Given the description of an element on the screen output the (x, y) to click on. 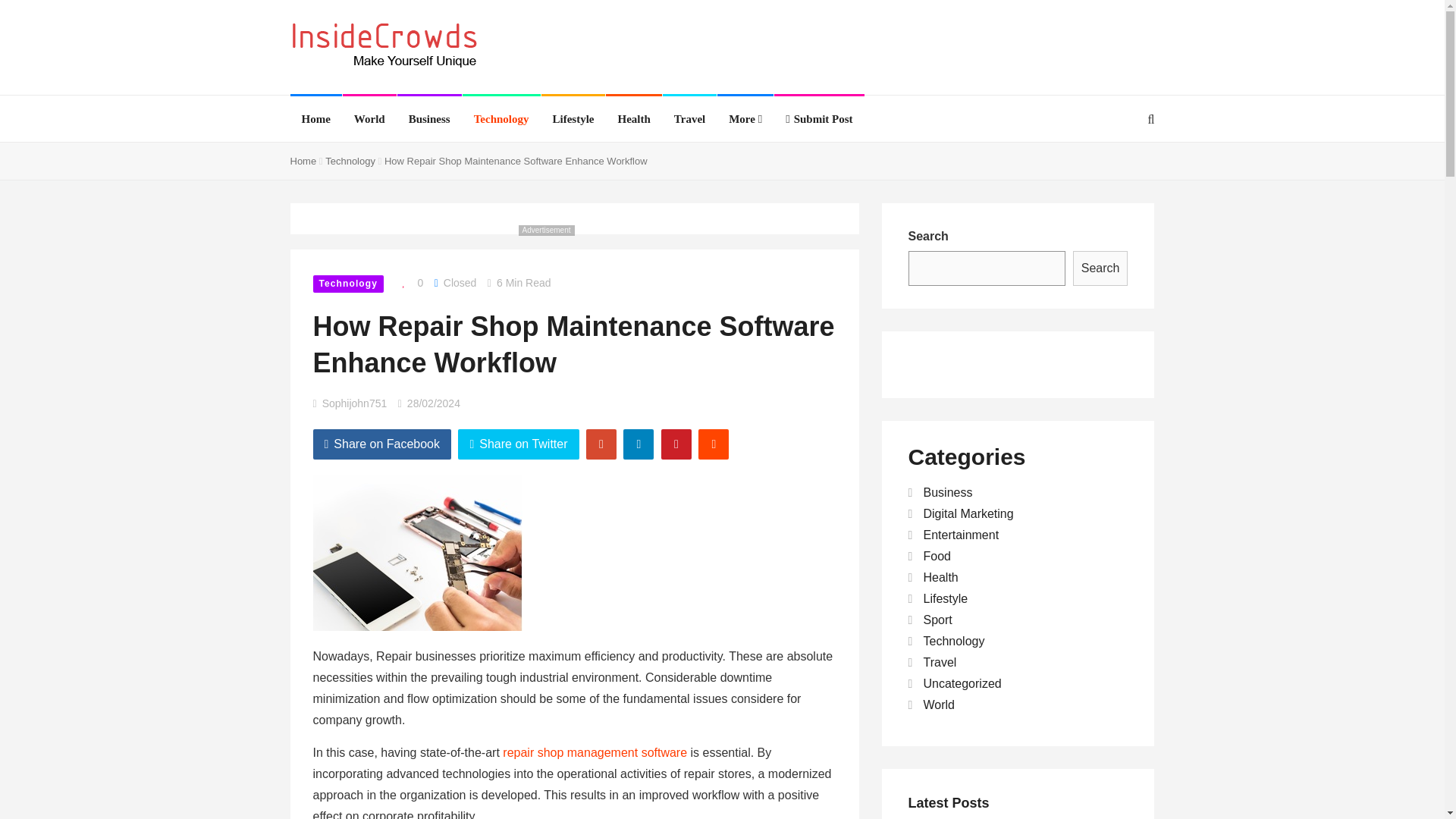
Business (429, 118)
Advertisement (878, 45)
InsideCrowds (384, 45)
Business (429, 118)
Technology (501, 118)
5 Key Factors That Influence Hair Transplant Pricing (14, 286)
Technology (501, 118)
How Repair Shop Maintenance Software Enhance Workflow (33, 689)
Lifestyle (572, 118)
Lifestyle (572, 118)
